Given the description of an element on the screen output the (x, y) to click on. 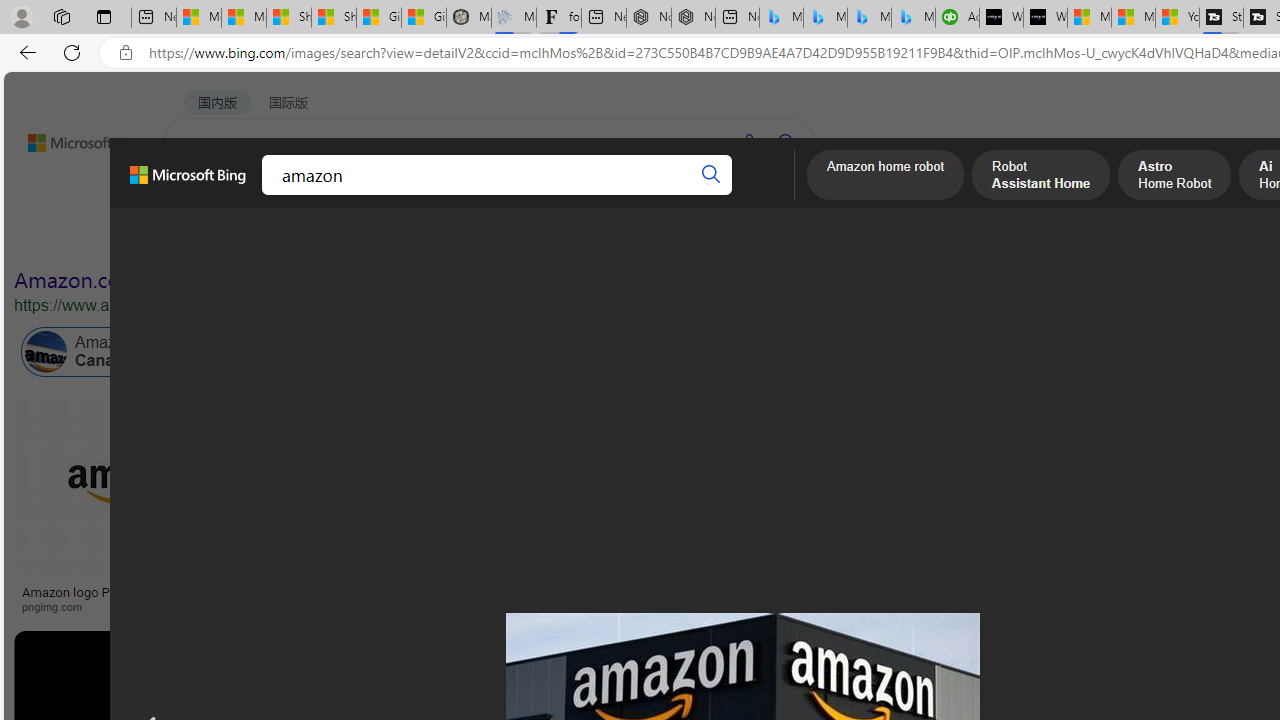
Listen: What's next for Amazon?usatoday.comSave (713, 508)
Image size (221, 237)
Amazon Echo Dot 4th Gen (1183, 465)
